Given the description of an element on the screen output the (x, y) to click on. 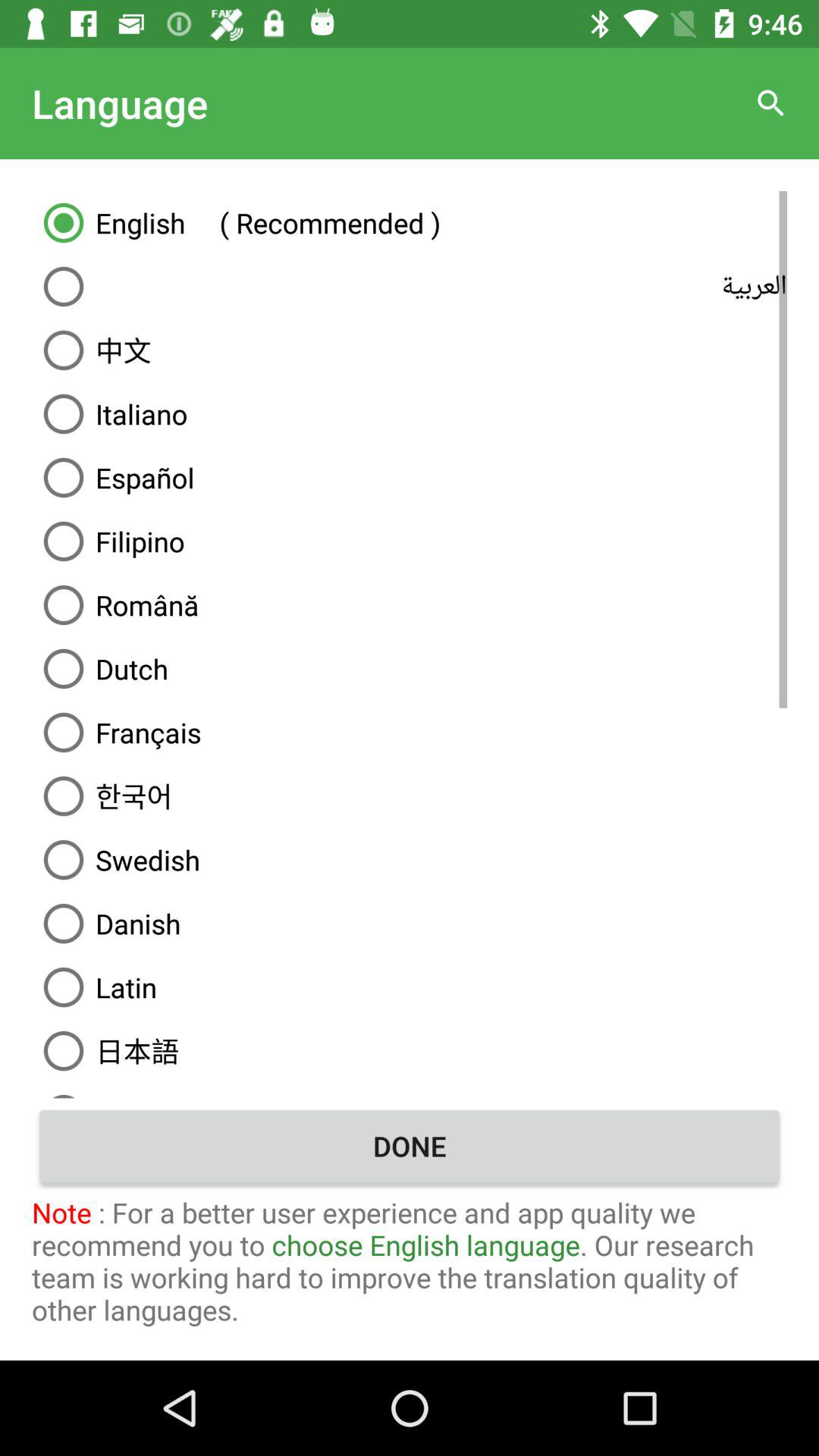
click on the option below the english (409, 286)
select the text above filipino (409, 477)
click on filipino below espanol (409, 541)
click on the option below dutch (409, 732)
click on english recommended below language (409, 222)
click on the danish above latin (409, 923)
